Given the description of an element on the screen output the (x, y) to click on. 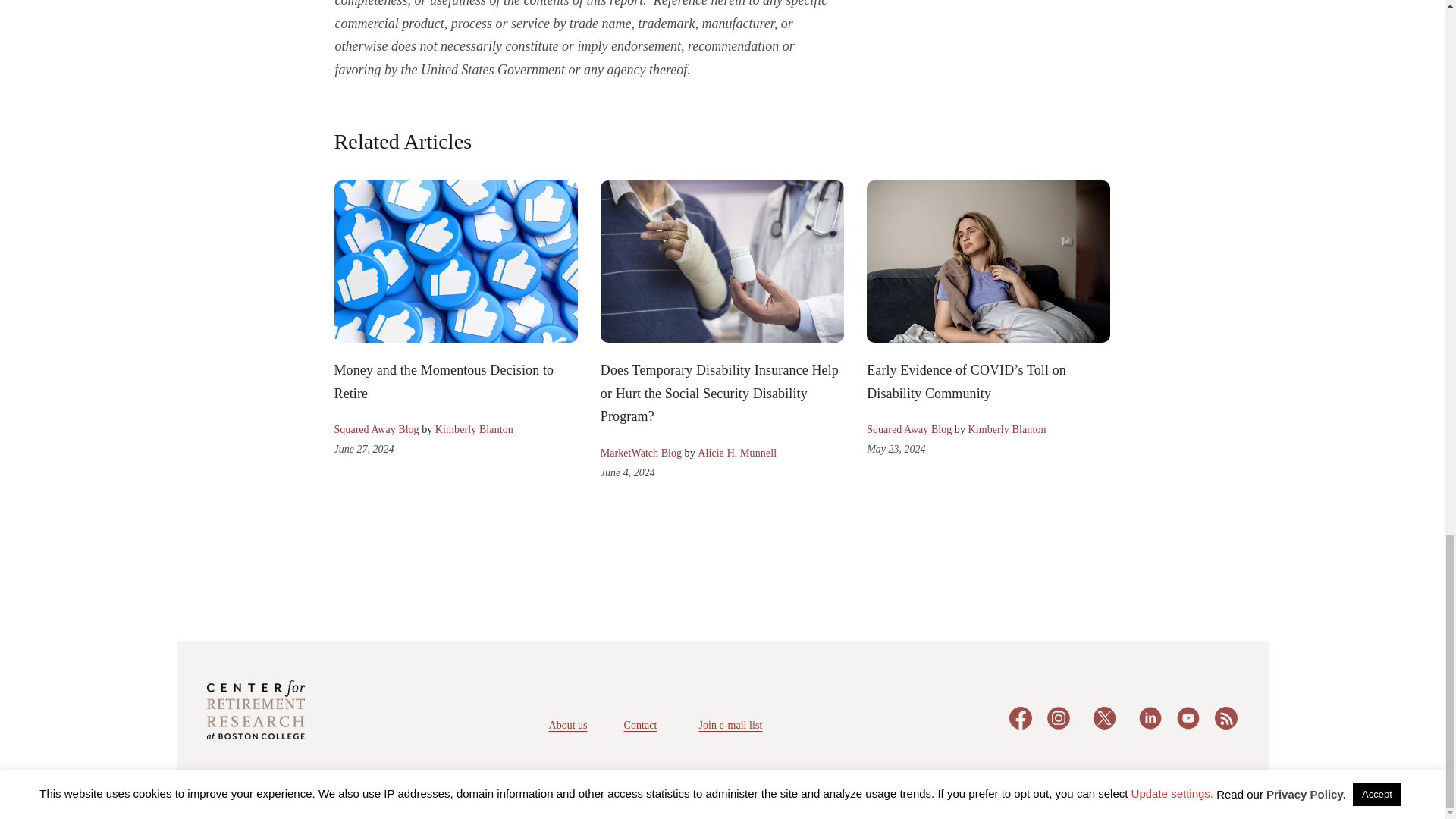
MarketWatch Blog (640, 452)
Posts by Alicia H. Munnell (736, 452)
Posts by Kimberly Blanton (474, 429)
Posts by Kimberly Blanton (1006, 429)
Money and the Momentous Decision to Retire (443, 381)
Squared Away Blog (376, 429)
Kimberly Blanton (474, 429)
